Given the description of an element on the screen output the (x, y) to click on. 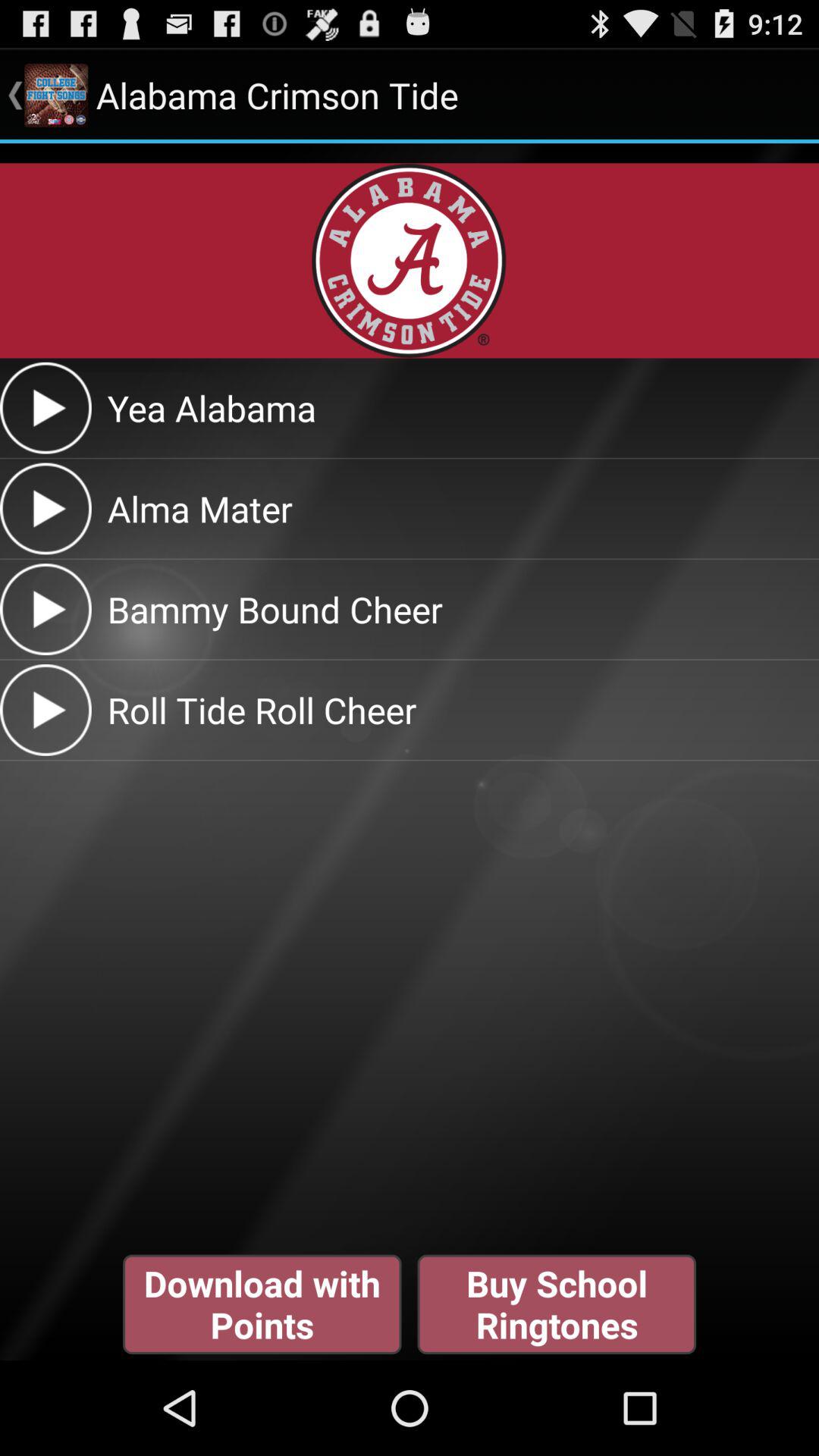
play audio (45, 609)
